Given the description of an element on the screen output the (x, y) to click on. 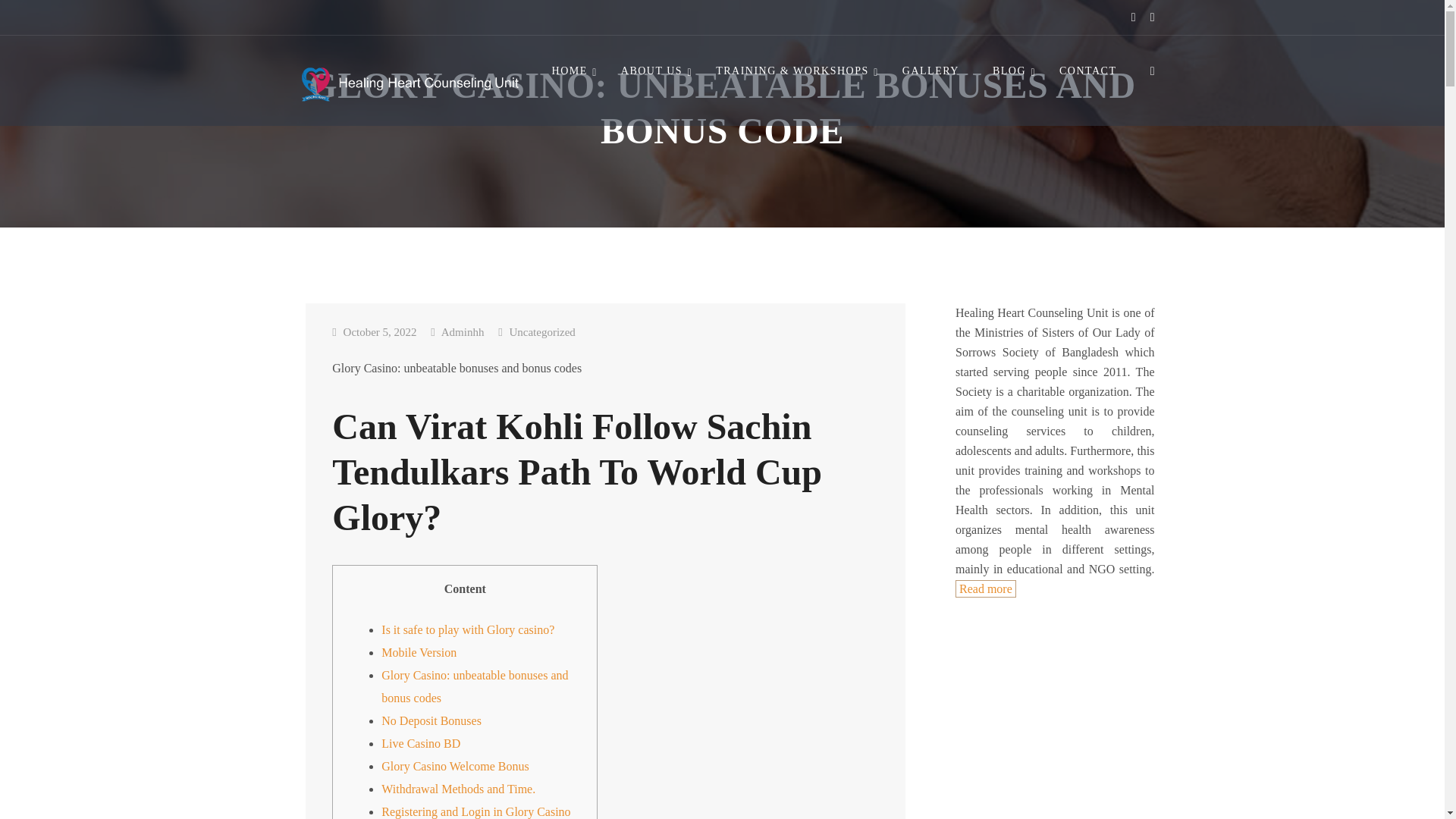
GALLERY (930, 71)
ABOUT US (651, 71)
HOME (569, 71)
CONTACT (1087, 71)
BLOG (1009, 71)
